Given the description of an element on the screen output the (x, y) to click on. 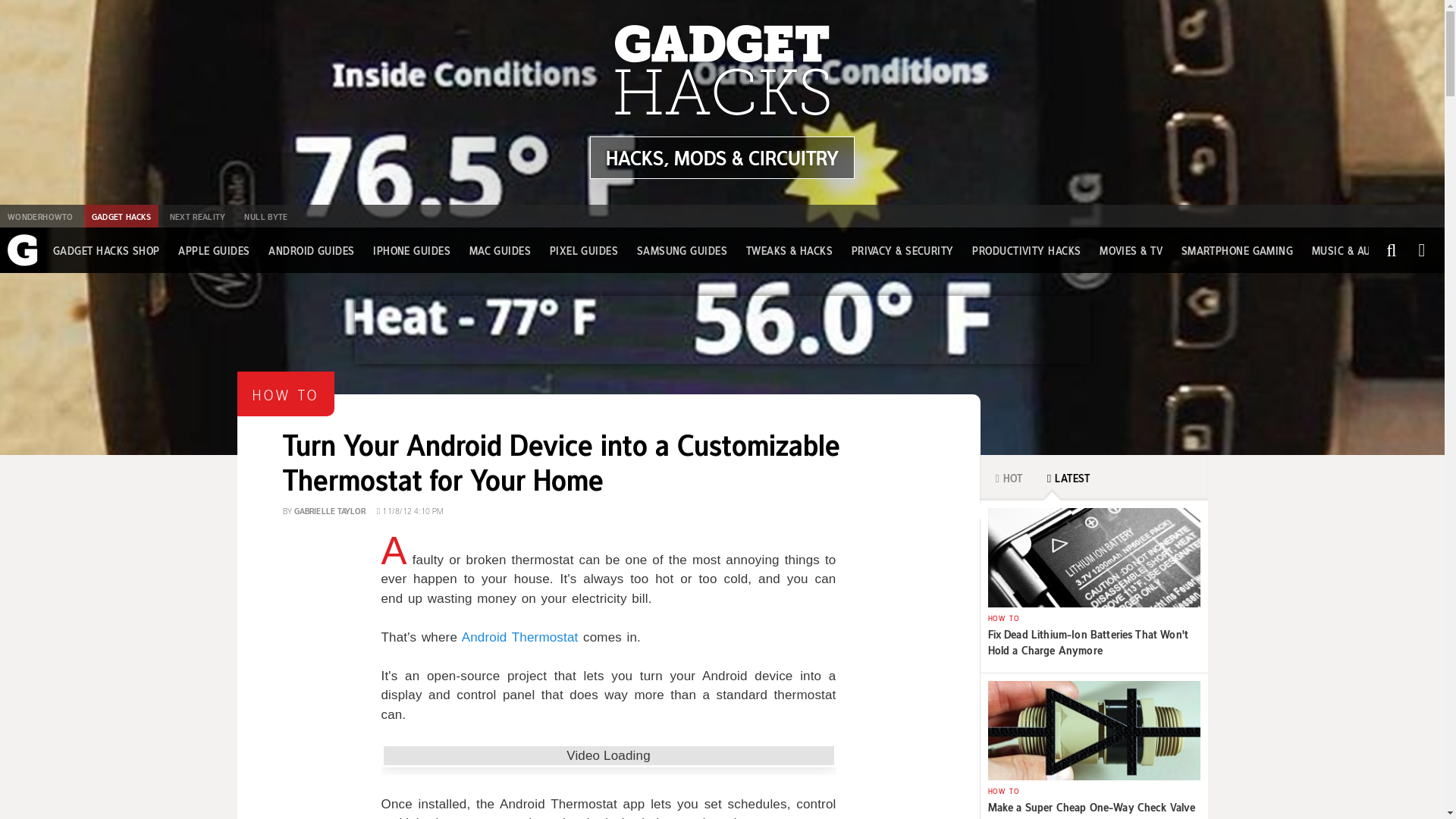
PRODUCTIVITY HACKS (1026, 249)
MAC GUIDES (499, 249)
GADGET HACKS SHOP (106, 249)
SMARTPHONE GAMING (1237, 249)
GADGET HACKS (121, 215)
NULL BYTE (265, 215)
SAMSUNG GUIDES (681, 249)
PIXEL GUIDES (583, 249)
GABRIELLE TAYLOR (329, 509)
NEXT REALITY (196, 215)
